Given the description of an element on the screen output the (x, y) to click on. 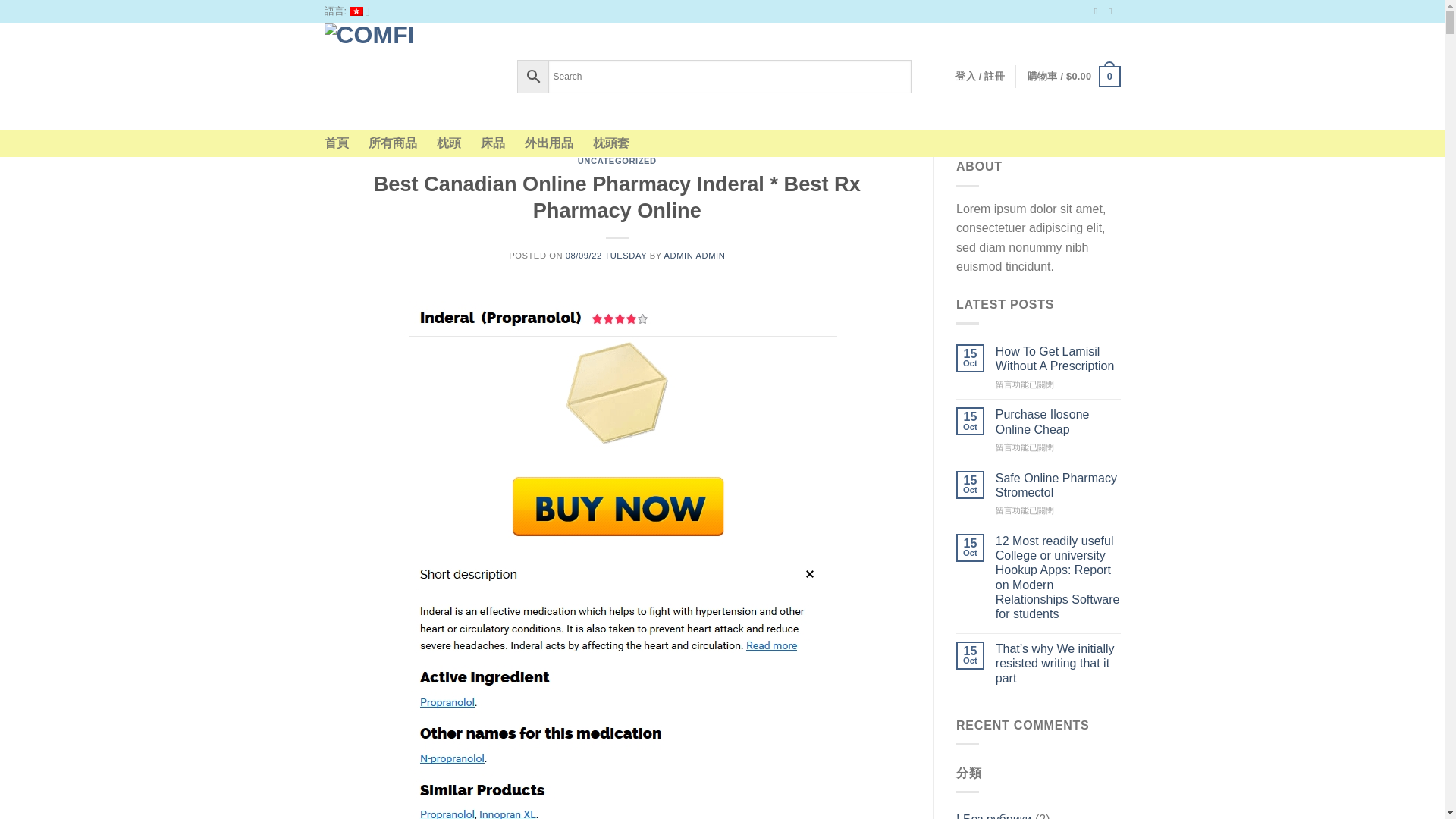
How To Get Lamisil Without A Prescription (1058, 358)
ADMIN ADMIN (694, 255)
UNCATEGORIZED (617, 160)
